Given the description of an element on the screen output the (x, y) to click on. 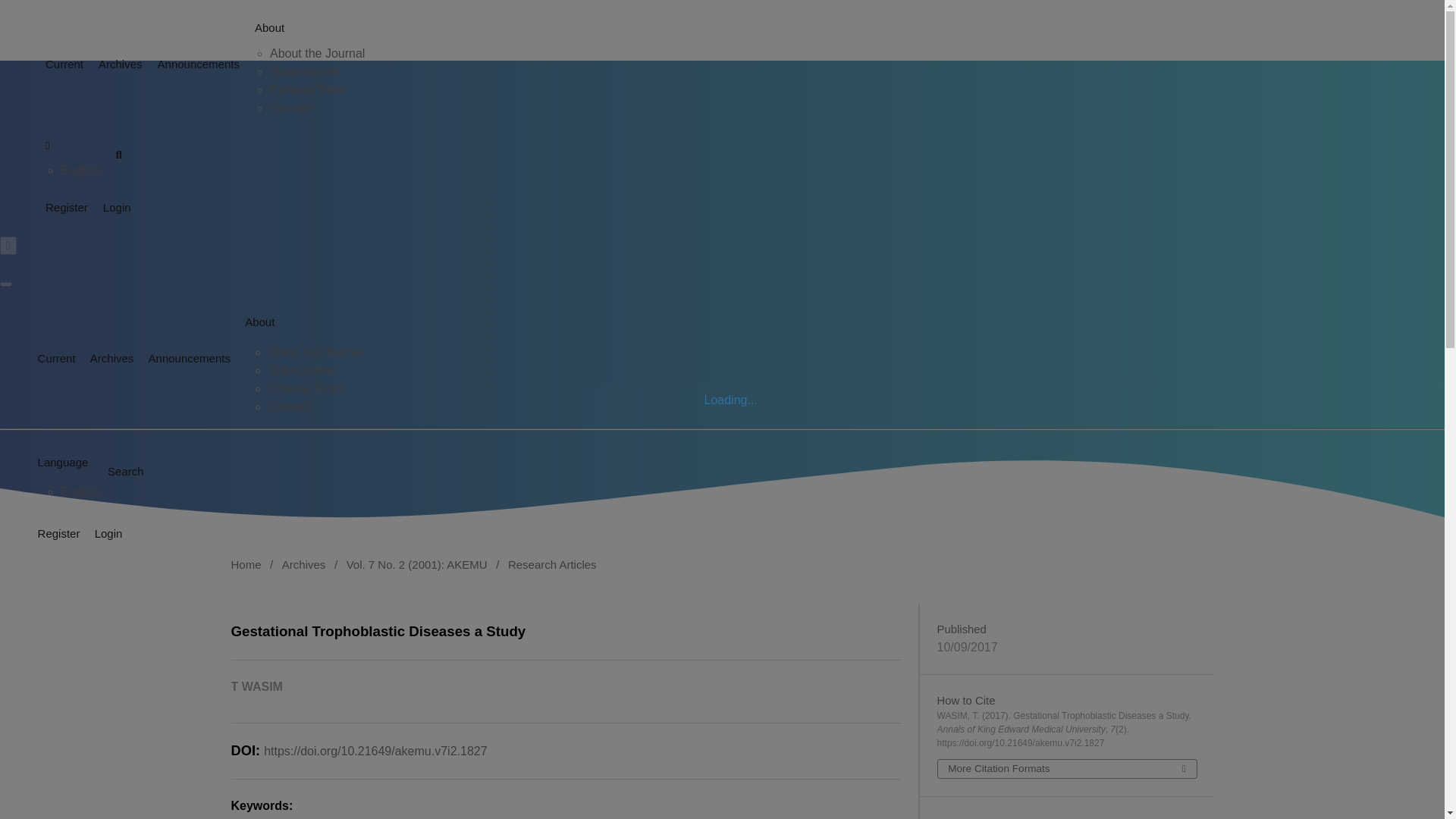
Home (245, 565)
Contact (290, 107)
Submissions (304, 71)
Submissions (302, 369)
About the Journal (317, 52)
Search (125, 472)
Editorial Team (306, 388)
Contact (288, 406)
Register (58, 207)
Announcements (191, 64)
